Given the description of an element on the screen output the (x, y) to click on. 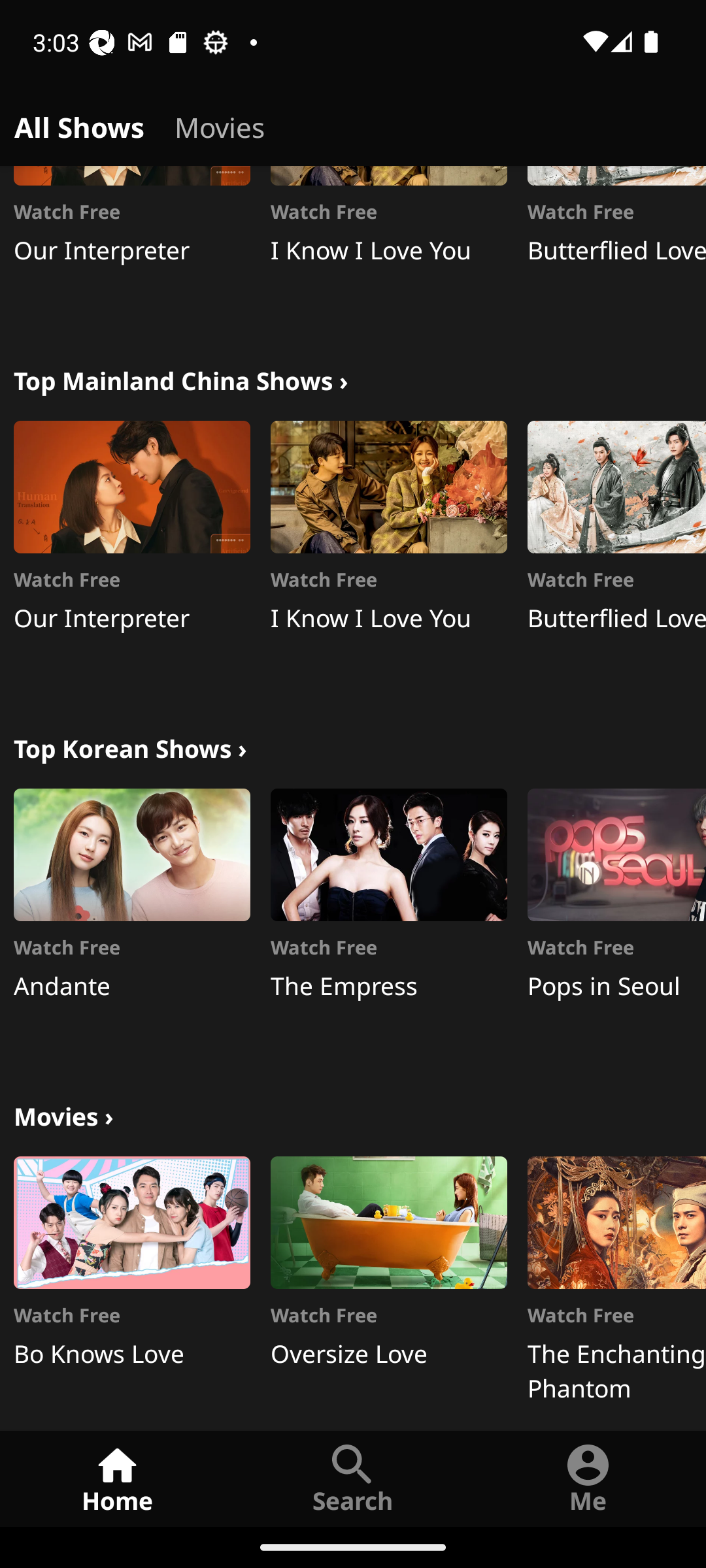
home_tab_movies Movies (219, 124)
Top Mainland China Shows › china_trending (180, 378)
Top Korean Shows › korean_trending (130, 746)
Movies › movies_new (63, 1113)
Search (352, 1478)
Me (588, 1478)
